Given the description of an element on the screen output the (x, y) to click on. 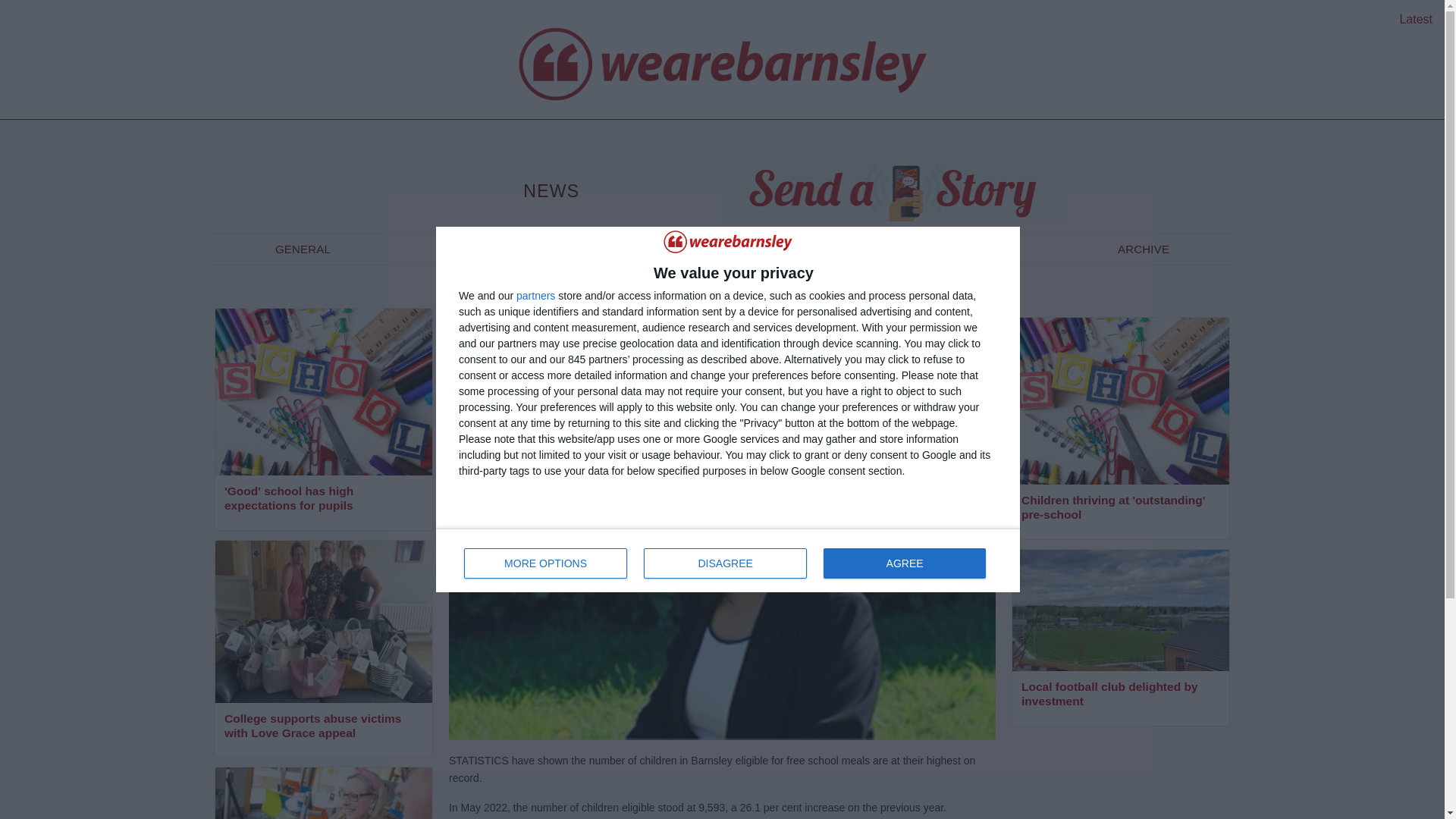
College supports abuse victims with Love Grace appeal (323, 726)
MORE OPTIONS (727, 560)
ARCHIVE (545, 562)
AGREE (1143, 249)
COMMUNITY (904, 562)
partners (496, 249)
Latest (535, 295)
'Good' school has high expectations for pupils (1415, 19)
DISAGREE (323, 499)
GENERAL (724, 562)
HELPING HAND (302, 249)
